Given the description of an element on the screen output the (x, y) to click on. 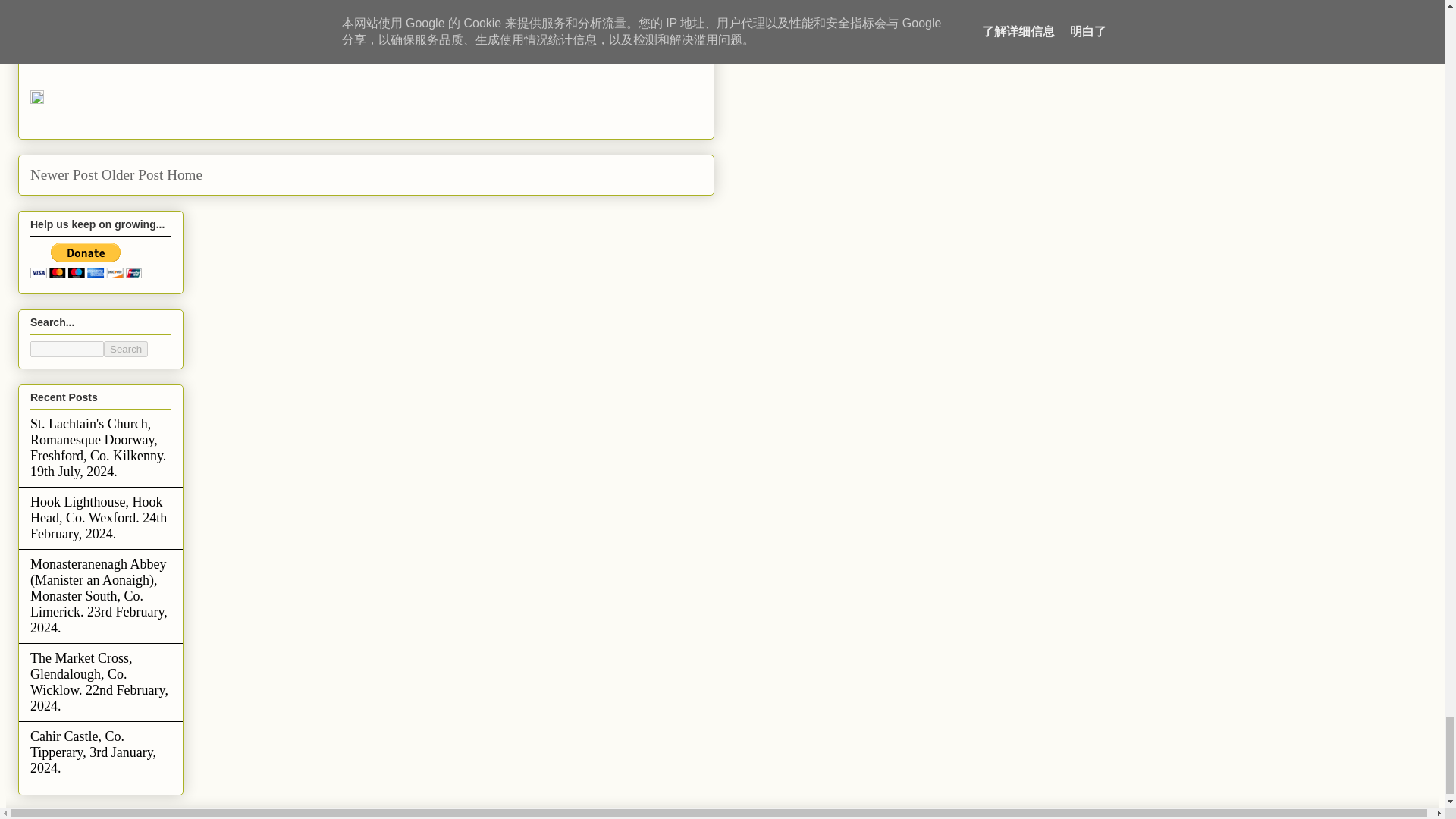
Older Post (132, 174)
Search (125, 349)
search (66, 349)
Search (125, 349)
search (125, 349)
Edit Post (36, 99)
Newer Post (63, 174)
